Given the description of an element on the screen output the (x, y) to click on. 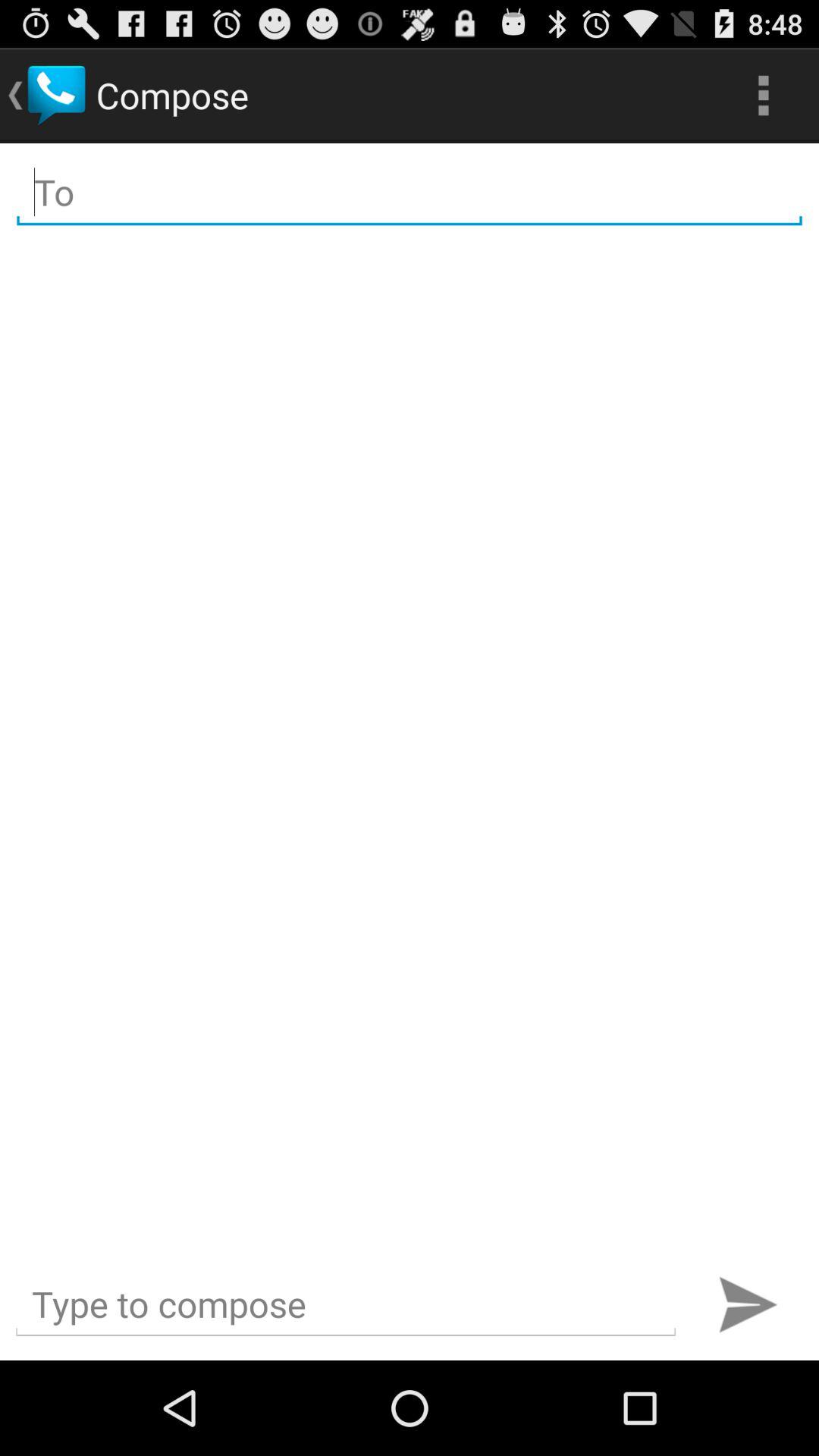
text box (345, 1304)
